Given the description of an element on the screen output the (x, y) to click on. 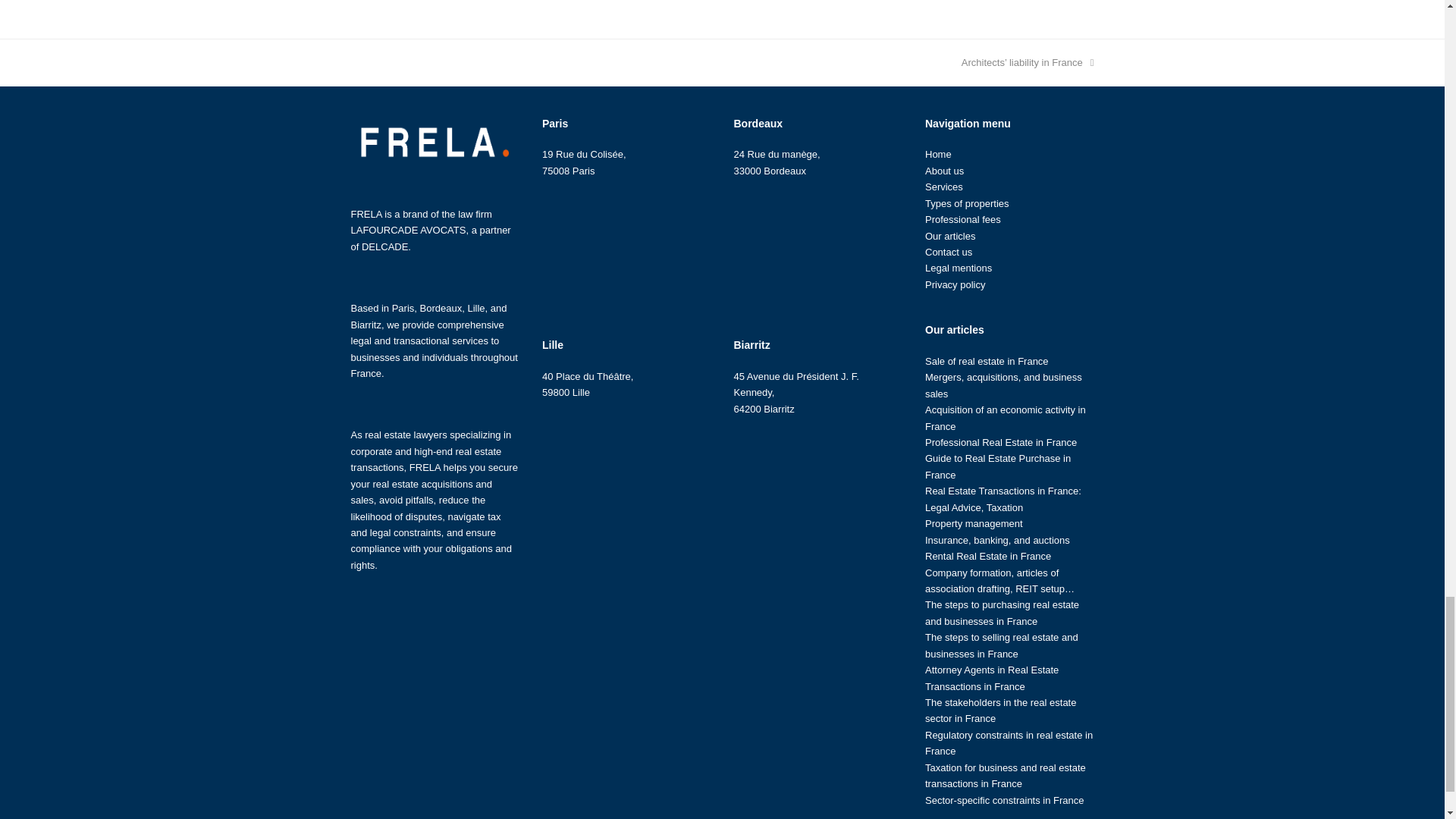
Google Map (817, 489)
Google Map (817, 250)
Google Map (626, 250)
Google Map (626, 472)
